Given the description of an element on the screen output the (x, y) to click on. 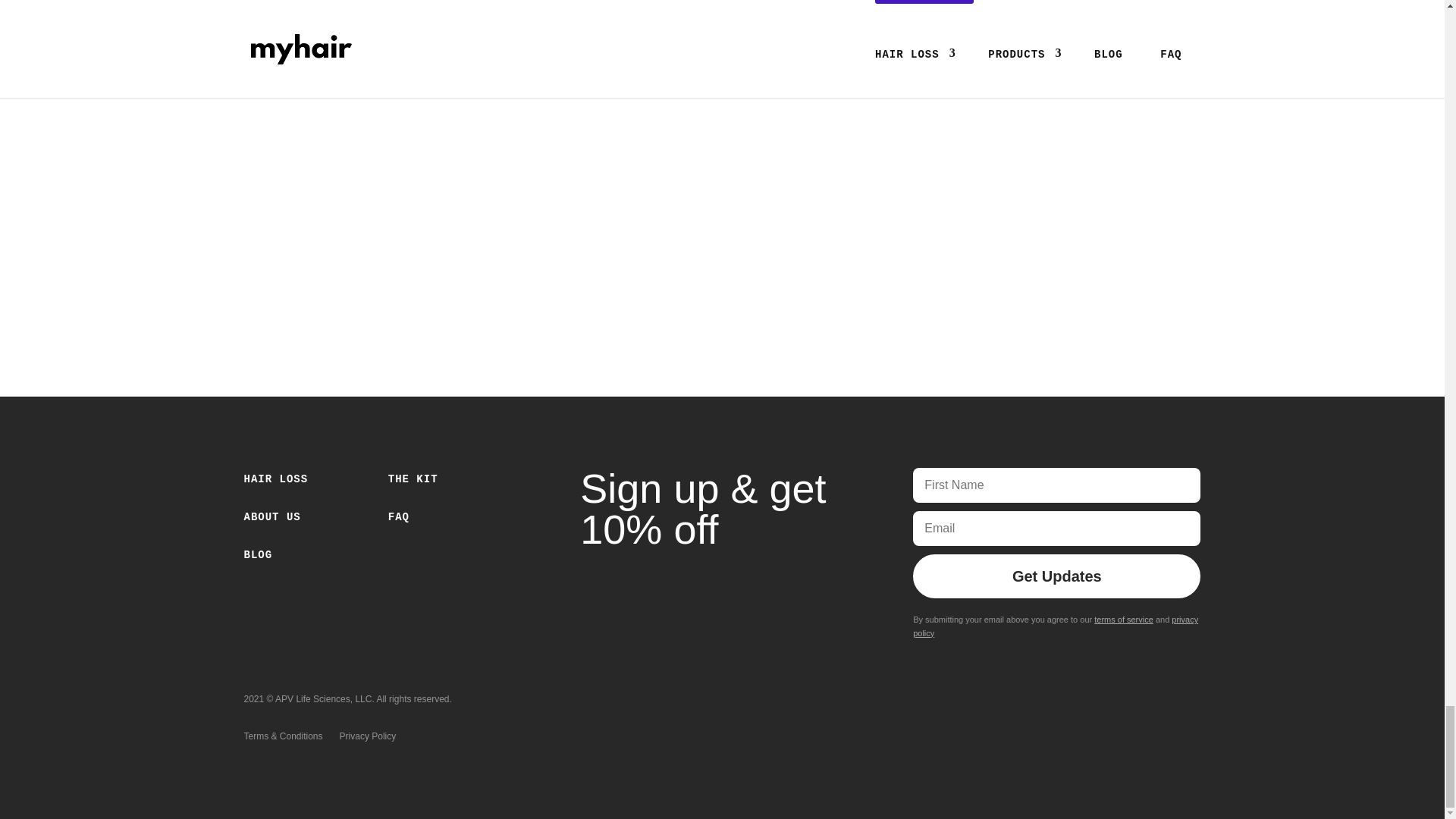
Privacy Policy (367, 739)
ABOUT US (272, 519)
FAQ (398, 519)
BLOG (258, 557)
privacy policy (1055, 626)
terms of service (1123, 619)
HAIR LOSS (276, 482)
THE KIT (413, 482)
Get Updates (1055, 576)
